Given the description of an element on the screen output the (x, y) to click on. 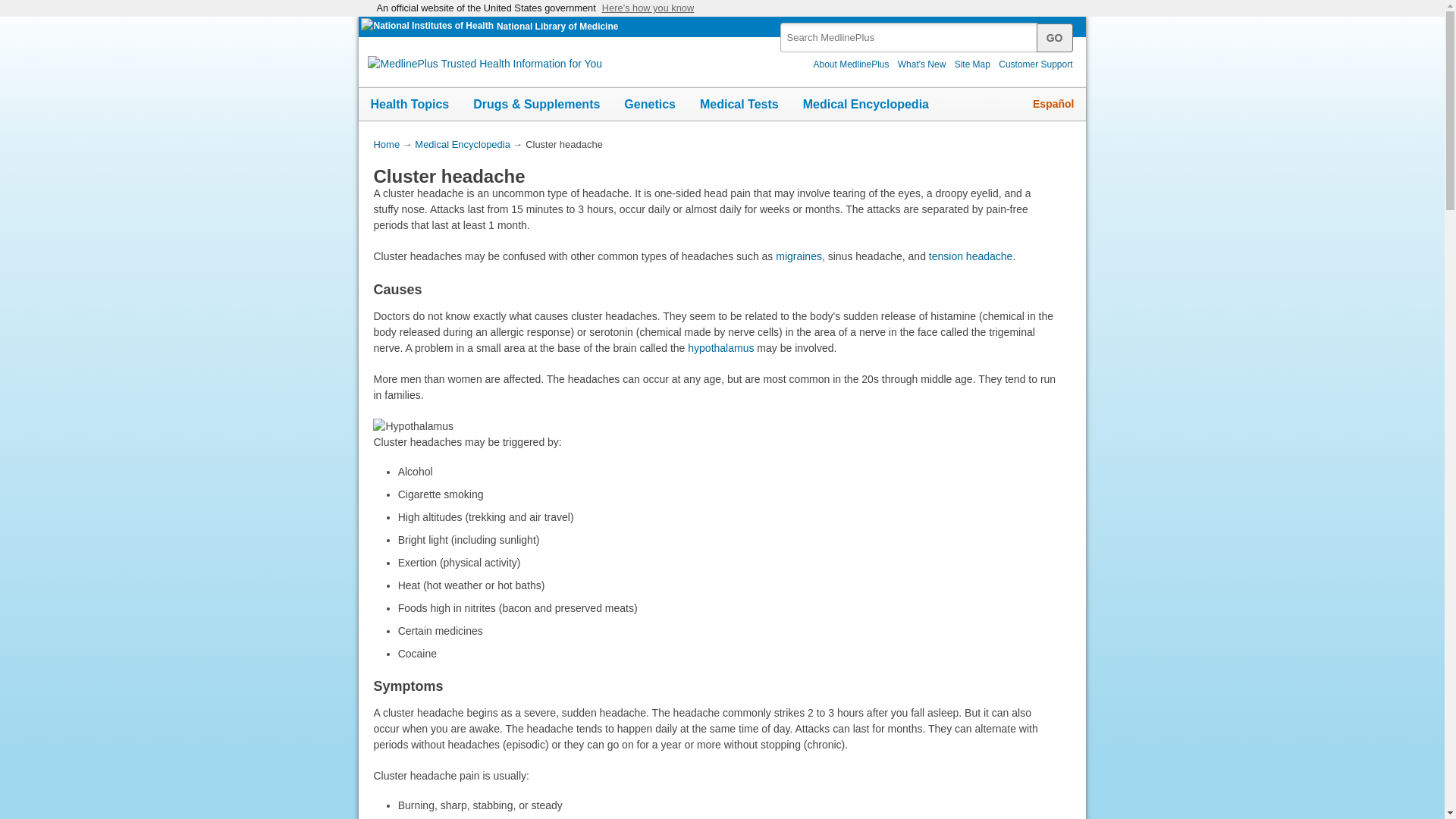
Site Map (972, 63)
hypothalamus (720, 347)
Medical Encyclopedia (865, 104)
Health Topics (409, 104)
Home (385, 143)
Search MedlinePlus (921, 32)
What's New (922, 63)
Medical Encyclopedia (462, 143)
tension headache (970, 256)
migraines (799, 256)
